Given the description of an element on the screen output the (x, y) to click on. 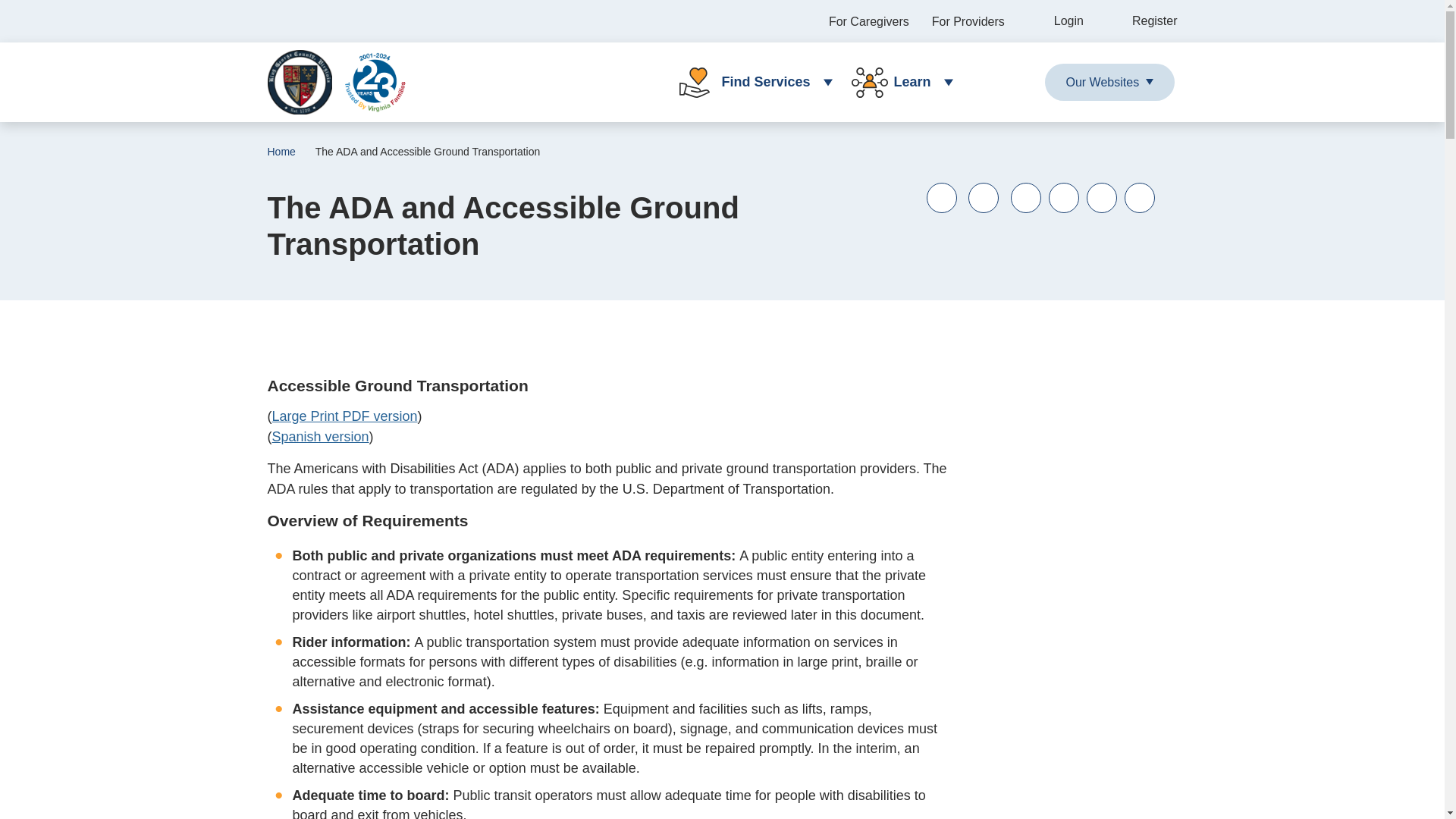
Learn (895, 82)
icon--register (1141, 21)
Find Services (749, 82)
Register (1141, 21)
For Providers (967, 21)
Login (1055, 21)
For Caregivers (868, 21)
